Given the description of an element on the screen output the (x, y) to click on. 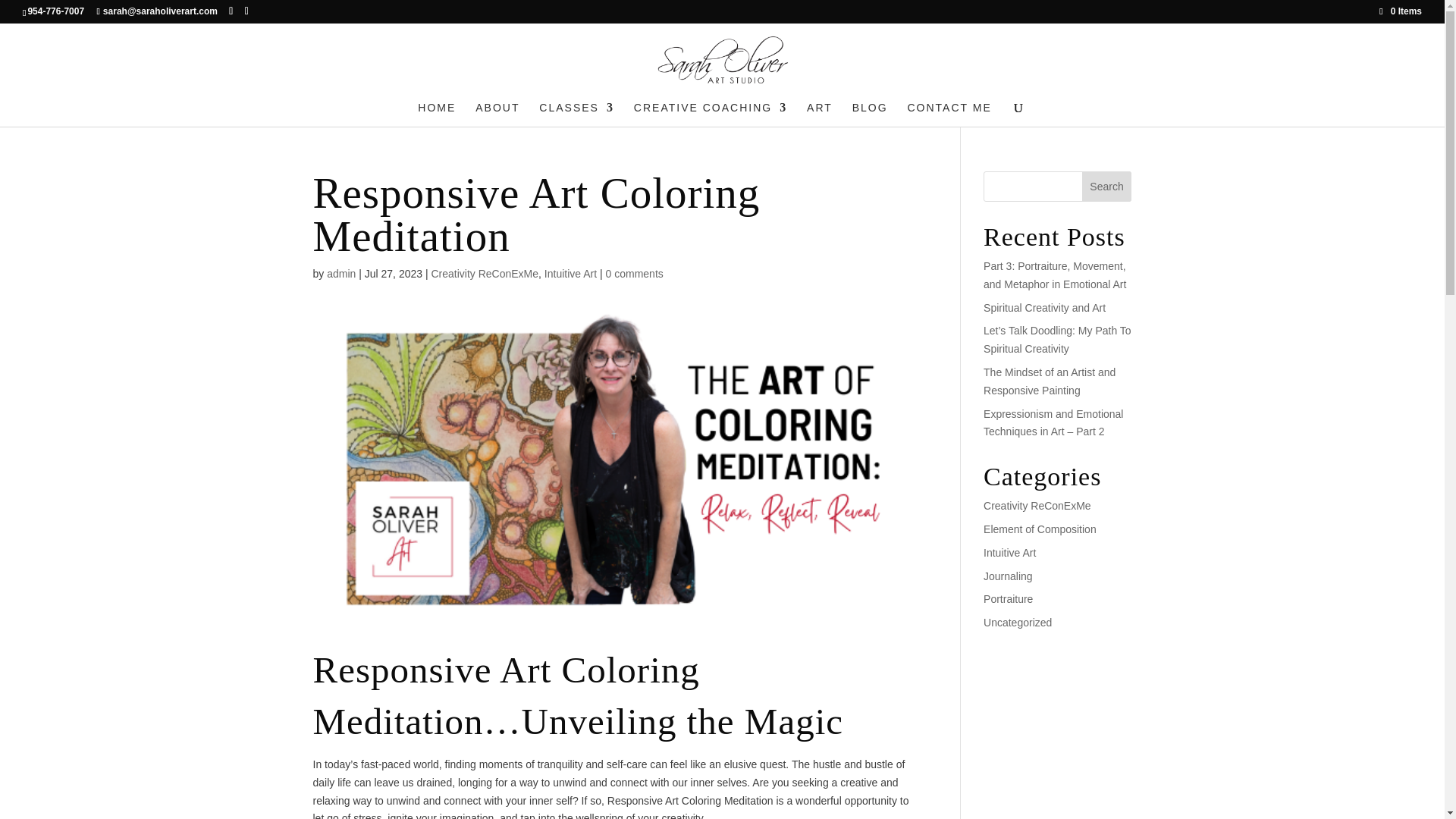
0 Items (1400, 10)
admin (340, 273)
CONTACT ME (949, 114)
CREATIVE COACHING (710, 114)
BLOG (869, 114)
HOME (436, 114)
Posts by admin (340, 273)
CLASSES (576, 114)
Intuitive Art (570, 273)
Creativity ReConExMe (484, 273)
ART (819, 114)
0 comments (634, 273)
Search (1106, 186)
ABOUT (497, 114)
